Given the description of an element on the screen output the (x, y) to click on. 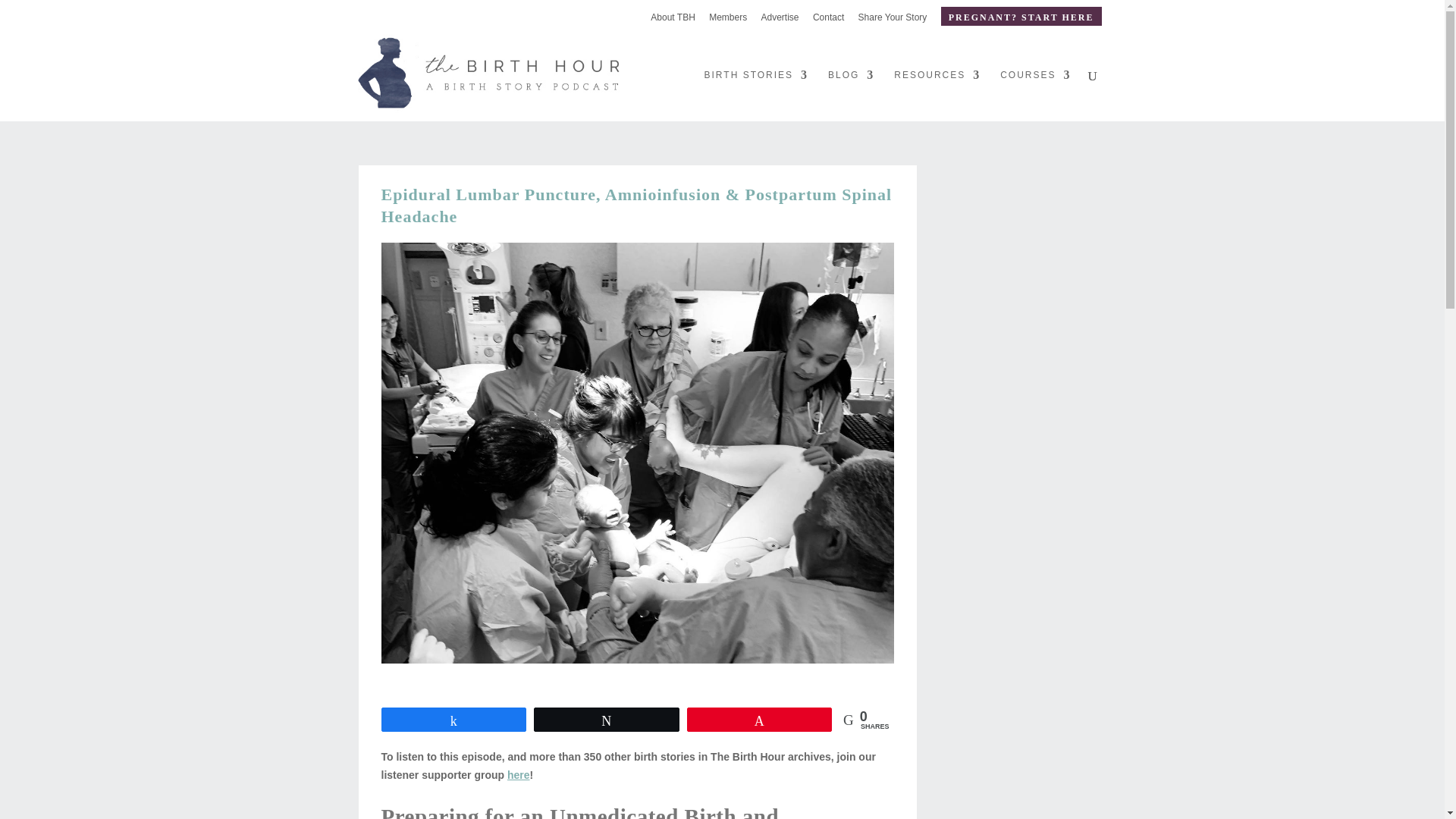
BLOG (851, 95)
COURSES (1035, 95)
Contact (828, 20)
Advertise (780, 20)
About TBH (672, 20)
Members (727, 20)
PREGNANT? START HERE (1021, 15)
BIRTH STORIES (756, 95)
Share Your Story (893, 20)
RESOURCES (936, 95)
